Given the description of an element on the screen output the (x, y) to click on. 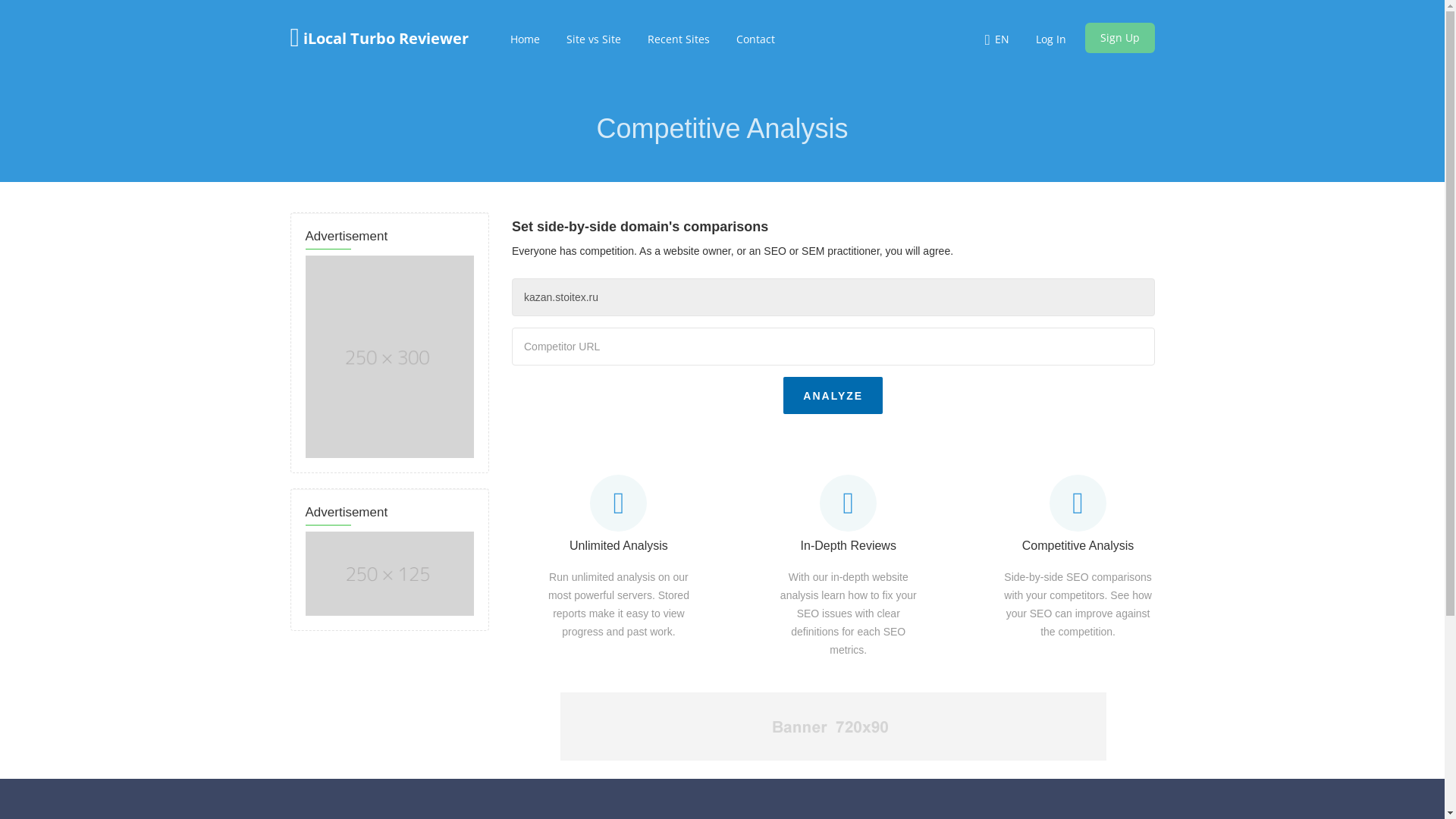
Recent Sites Element type: text (678, 39)
Contact Element type: text (755, 39)
ANALYZE Element type: text (832, 395)
Log In Element type: text (1050, 39)
Sign Up Element type: text (1119, 37)
EN Element type: text (1001, 39)
Site vs Site Element type: text (593, 39)
Home Element type: text (524, 39)
